Given the description of an element on the screen output the (x, y) to click on. 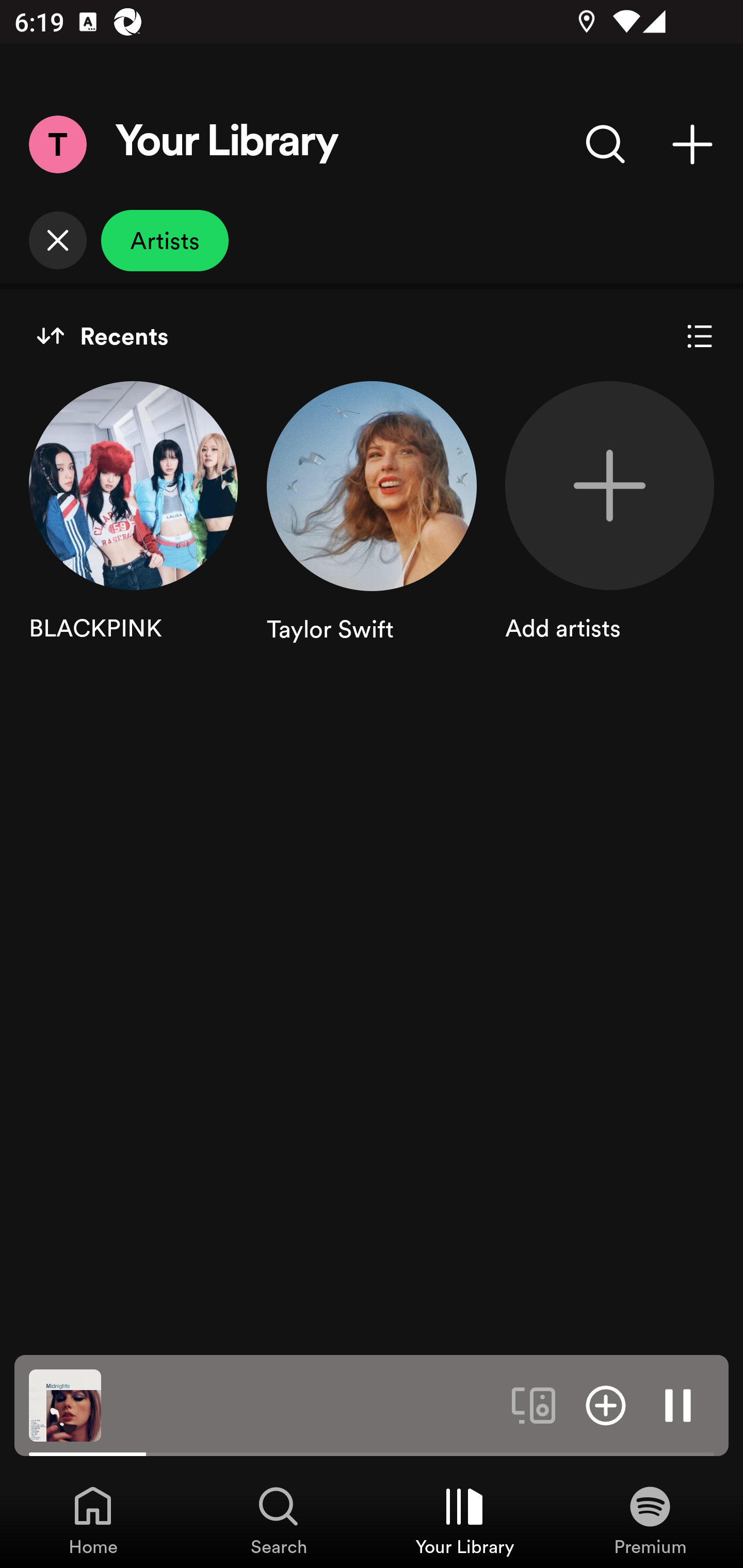
Menu (57, 144)
Search Your Library (605, 144)
Create playlist (692, 144)
Your Library Your Library Heading (226, 144)
Clear Filters (57, 240)
Artists, show only artists. (164, 240)
Recents (101, 336)
Show List view (699, 336)
BLACKPINK,  BLACKPINK (132, 531)
Taylor Swift,  Taylor Swift (371, 531)
Add artists,  Add artists (609, 531)
The cover art of the currently playing track (64, 1404)
Connect to a device. Opens the devices menu (533, 1404)
Add item (605, 1404)
Pause (677, 1404)
Home, Tab 1 of 4 Home Home (92, 1519)
Search, Tab 2 of 4 Search Search (278, 1519)
Your Library, Tab 3 of 4 Your Library Your Library (464, 1519)
Premium, Tab 4 of 4 Premium Premium (650, 1519)
